Given the description of an element on the screen output the (x, y) to click on. 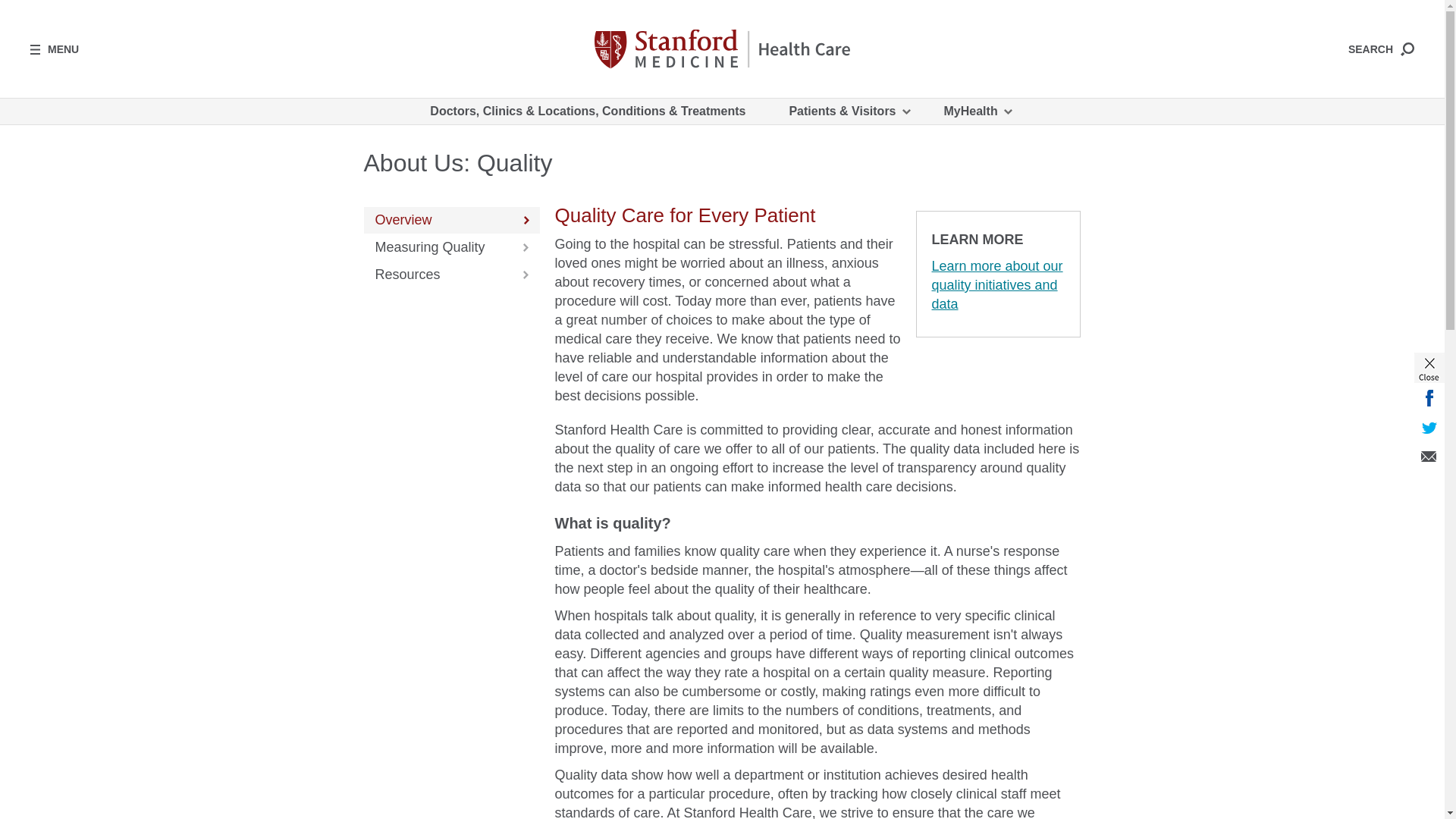
MENU (54, 49)
MyHealth (976, 110)
SEARCH (1380, 49)
